Given the description of an element on the screen output the (x, y) to click on. 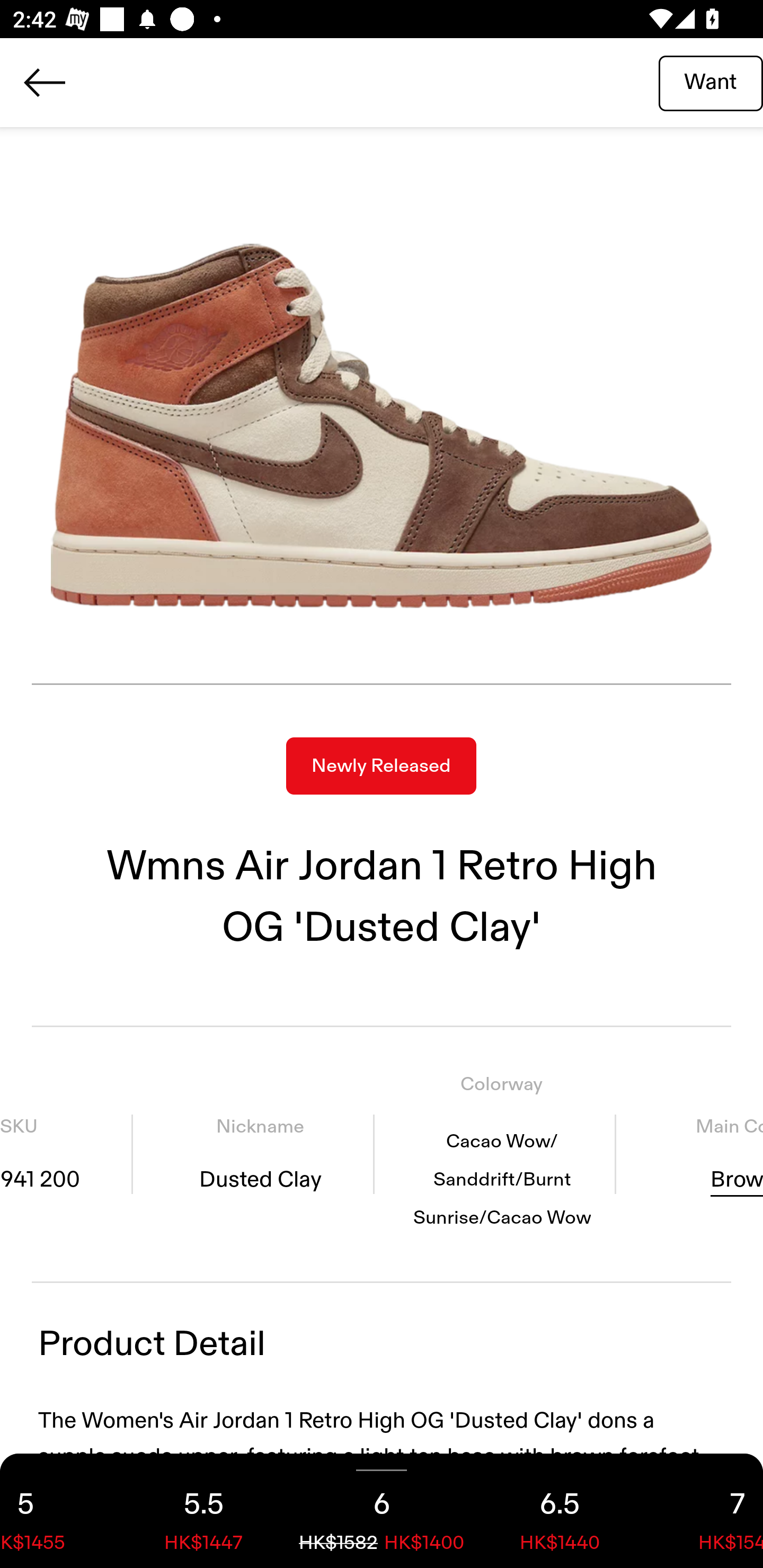
Want (710, 82)
Newly Released (381, 765)
SKU FQ2941 200 (66, 1153)
Nickname Dusted Clay (259, 1153)
Main Color Brown (695, 1153)
5 HK$1455 (57, 1510)
5.5 HK$1447 (203, 1510)
6 HK$1582 HK$1400 (381, 1510)
6.5 HK$1440 (559, 1510)
7 HK$1542 (705, 1510)
